Given the description of an element on the screen output the (x, y) to click on. 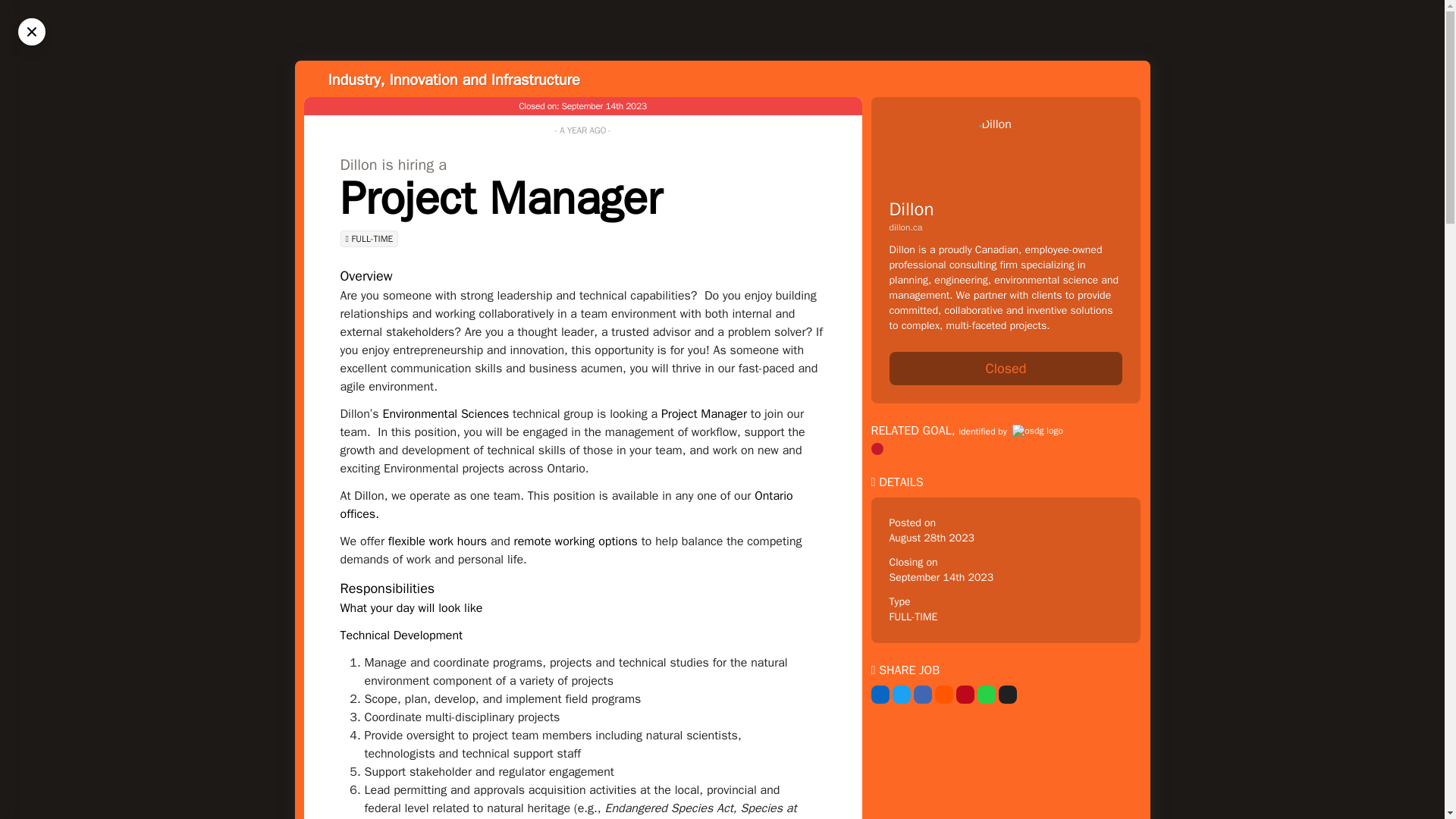
Dillon (910, 209)
share with email (1006, 694)
share on facebook (921, 694)
share on linkedin (879, 694)
share on reddit (943, 694)
share on twitter (900, 694)
dillon.ca (1005, 227)
Industry, Innovation and Infrastructure (453, 79)
share on pinterest (964, 694)
share with whatsapp (985, 694)
Quality Education sustainability jobs (876, 449)
Closed (1005, 368)
